Given the description of an element on the screen output the (x, y) to click on. 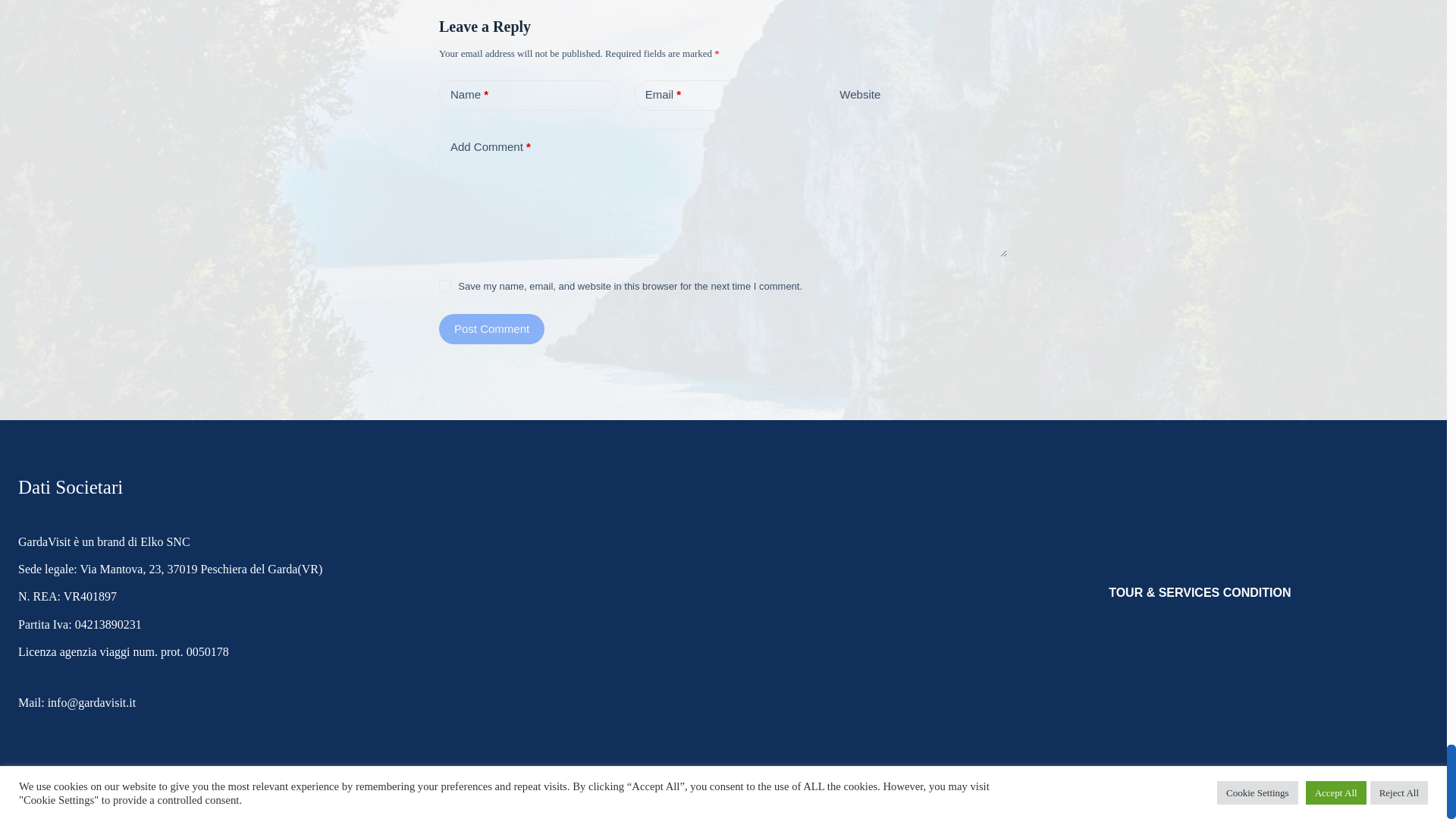
yes (445, 285)
